Given the description of an element on the screen output the (x, y) to click on. 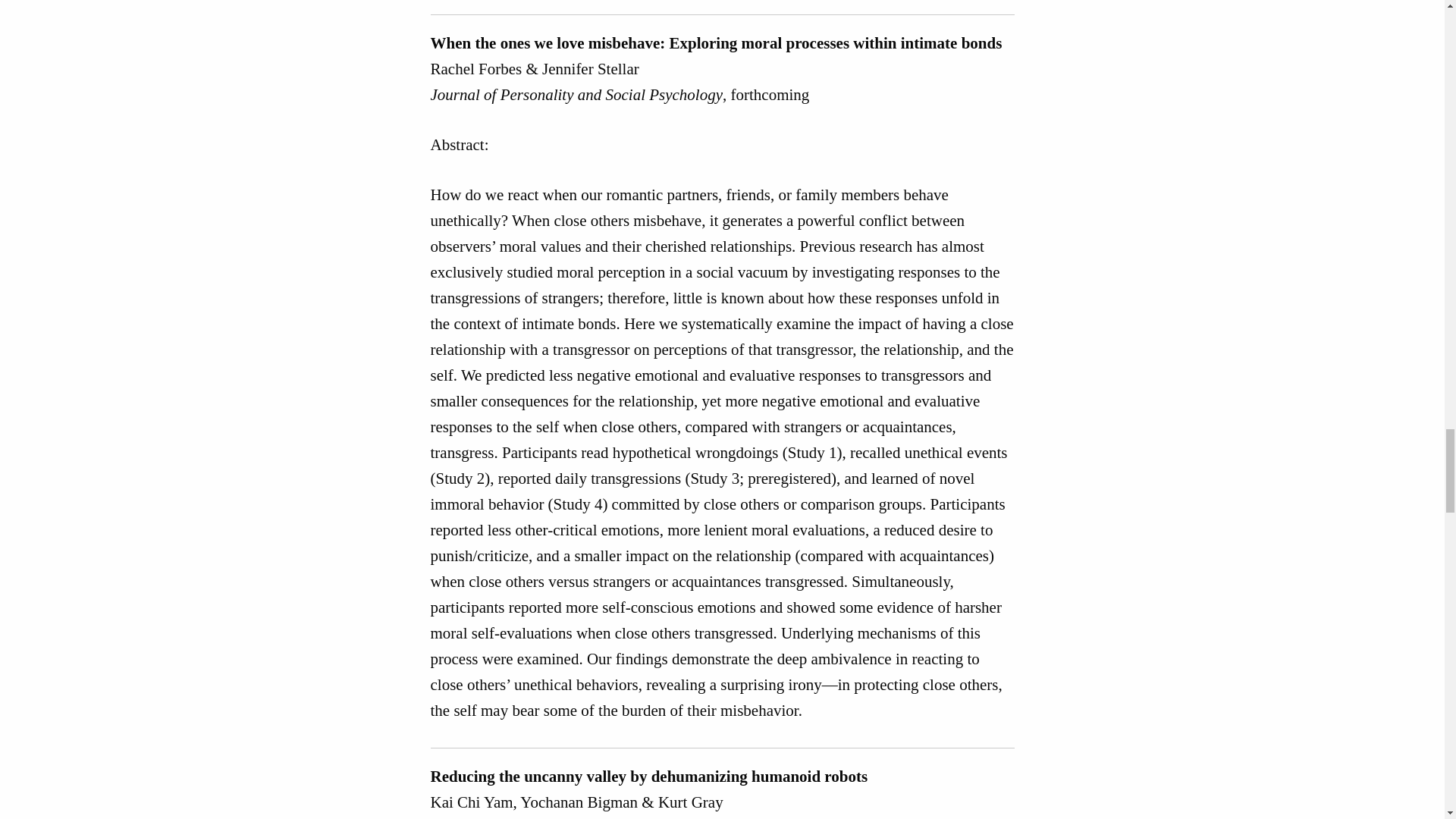
Reducing the uncanny valley by dehumanizing humanoid robots (648, 776)
